Given the description of an element on the screen output the (x, y) to click on. 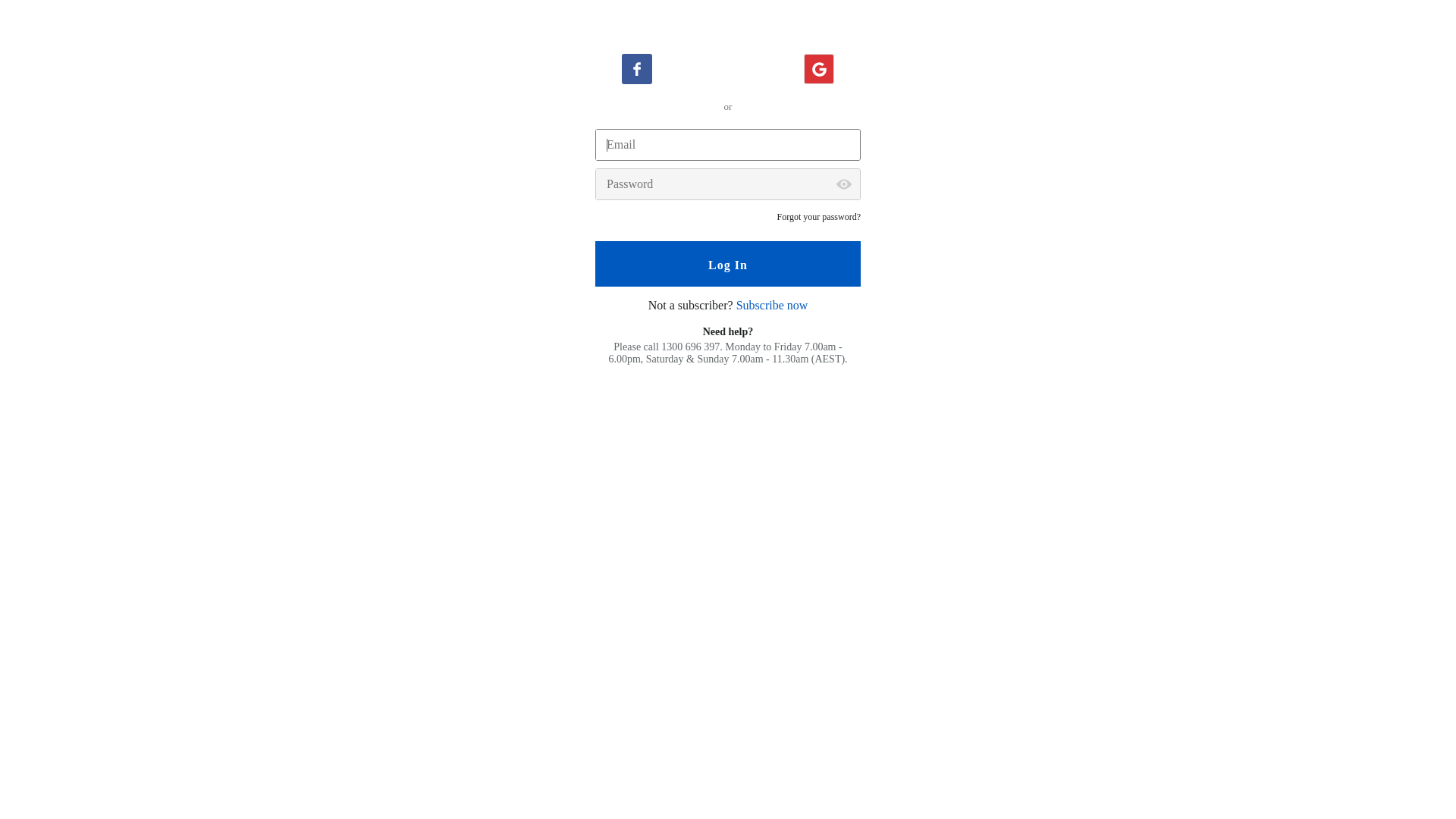
Forgot your password? Element type: text (818, 216)
Subscribe now Element type: text (772, 304)
Show password Element type: hover (843, 183)
Sign in with Google Element type: text (818, 68)
Log In Element type: text (727, 263)
Sign in with Facebook Element type: text (636, 68)
